Given the description of an element on the screen output the (x, y) to click on. 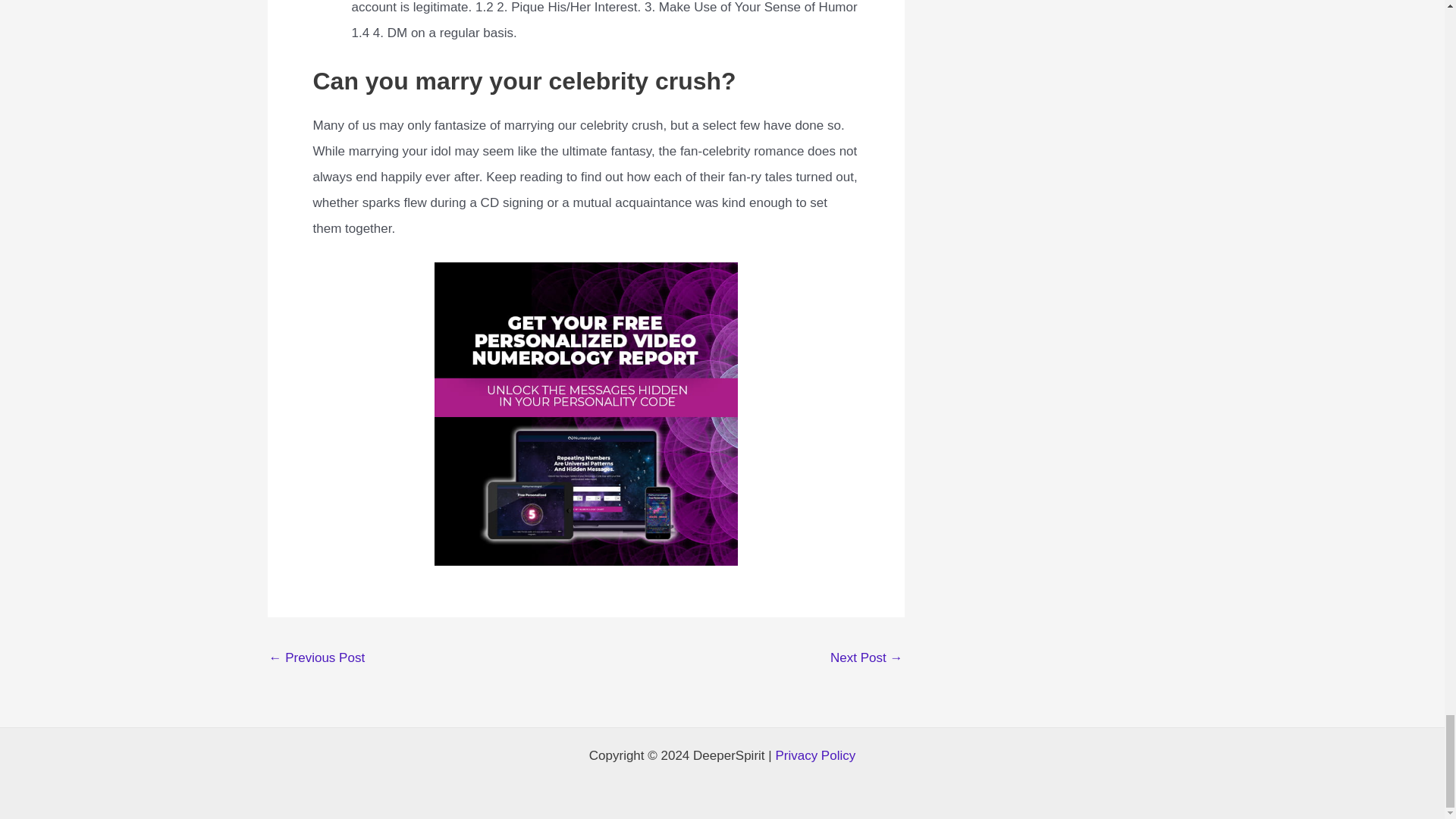
Who Is The Soulmate (316, 659)
Who Is Your Celebrity Soulmate For Guys (865, 659)
